Given the description of an element on the screen output the (x, y) to click on. 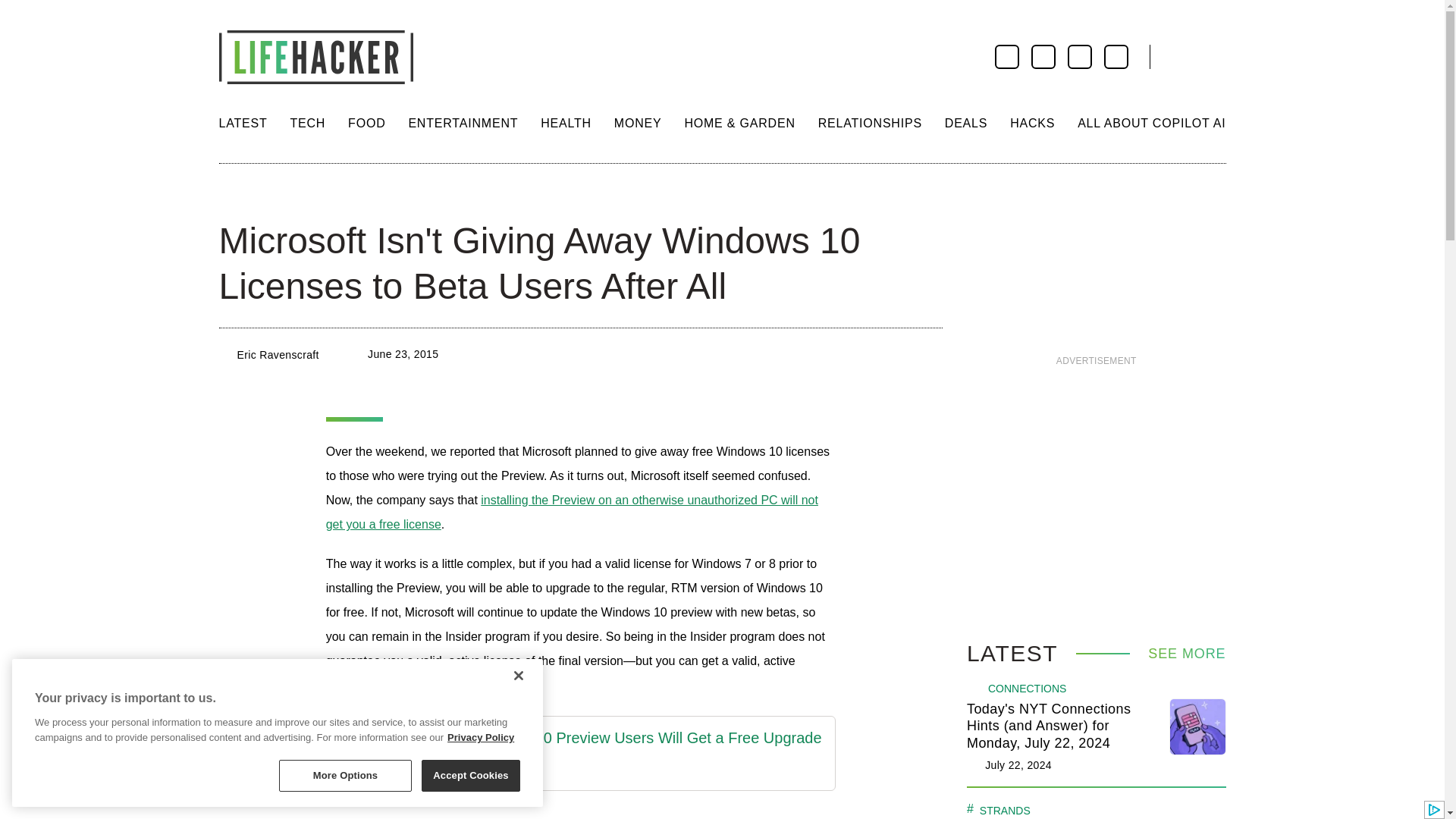
TECH (306, 123)
HACKS (1032, 123)
ALL ABOUT COPILOT AI (1151, 123)
MONEY (638, 123)
RELATIONSHIPS (869, 123)
open in a new window (580, 769)
Social Share (232, 193)
ENTERTAINMENT (462, 123)
DEALS (965, 123)
FOOD (366, 123)
LATEST (242, 123)
HEALTH (565, 123)
open in a new window (580, 737)
